Given the description of an element on the screen output the (x, y) to click on. 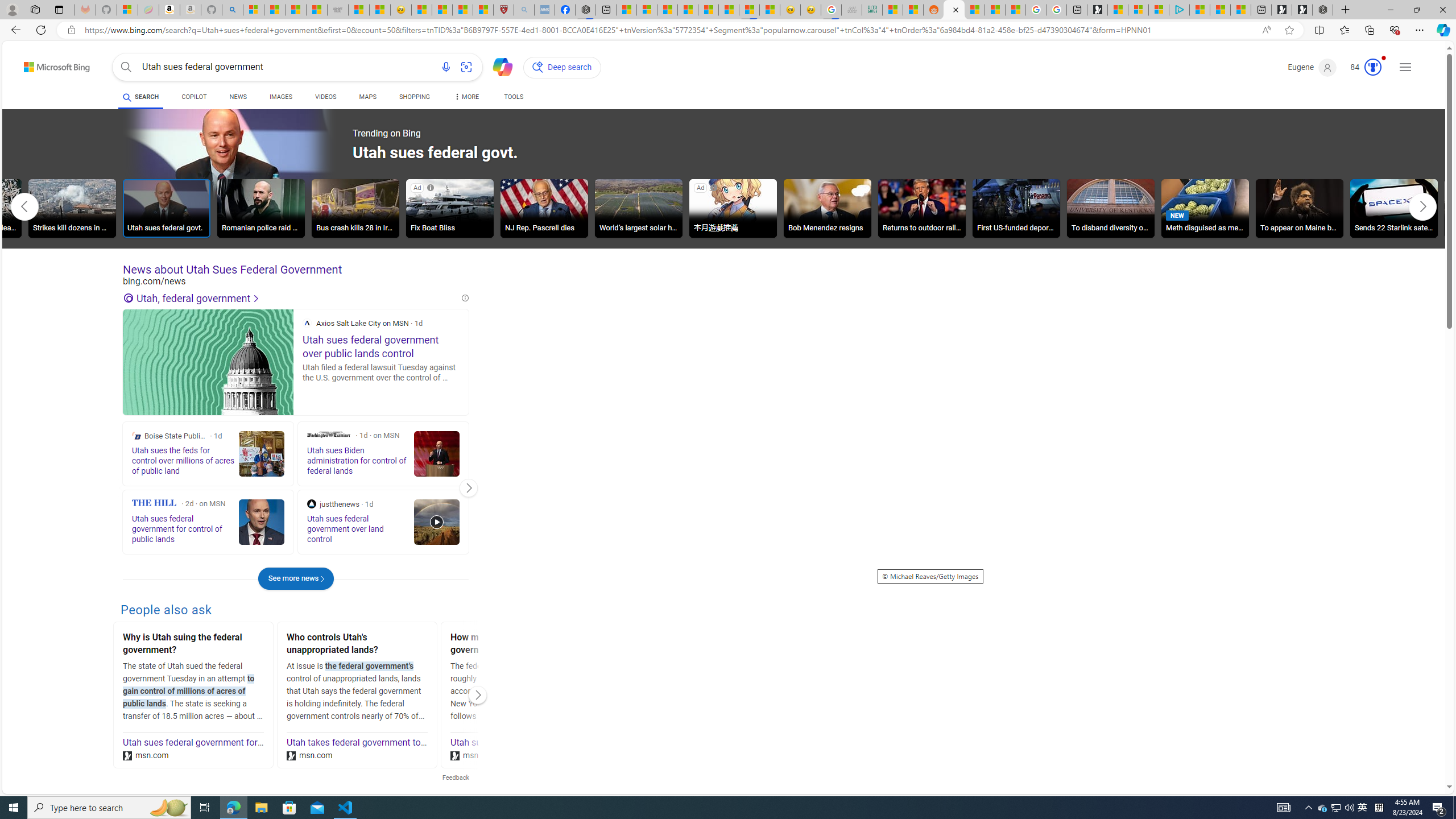
Bob Menendez resigns (826, 209)
To disband diversity office (1110, 209)
SEARCH (140, 96)
Bob Menendez resigns (826, 207)
Bus crash kills 28 in Iran (354, 209)
Utah sues federal govt. (166, 209)
Click to scroll left (25, 206)
